Given the description of an element on the screen output the (x, y) to click on. 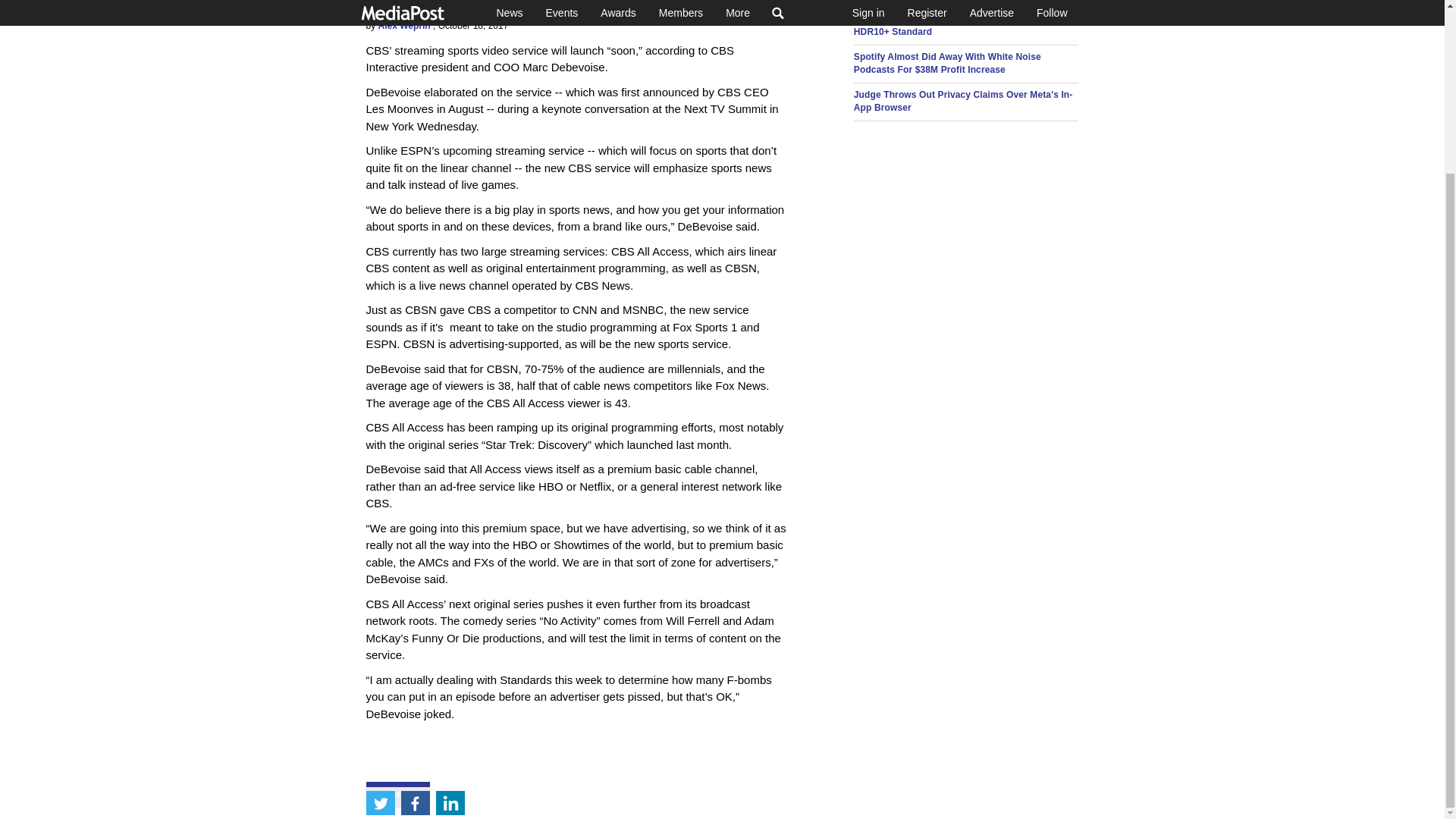
Share on Twitter (379, 593)
Share on Facebook (414, 593)
Share on LinkedIn (449, 593)
